Given the description of an element on the screen output the (x, y) to click on. 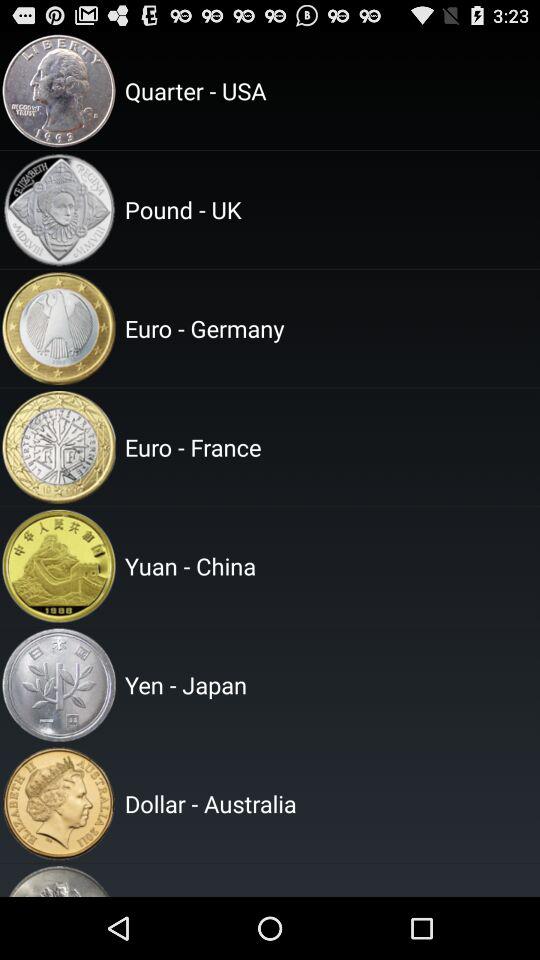
choose yuan - china (329, 565)
